Given the description of an element on the screen output the (x, y) to click on. 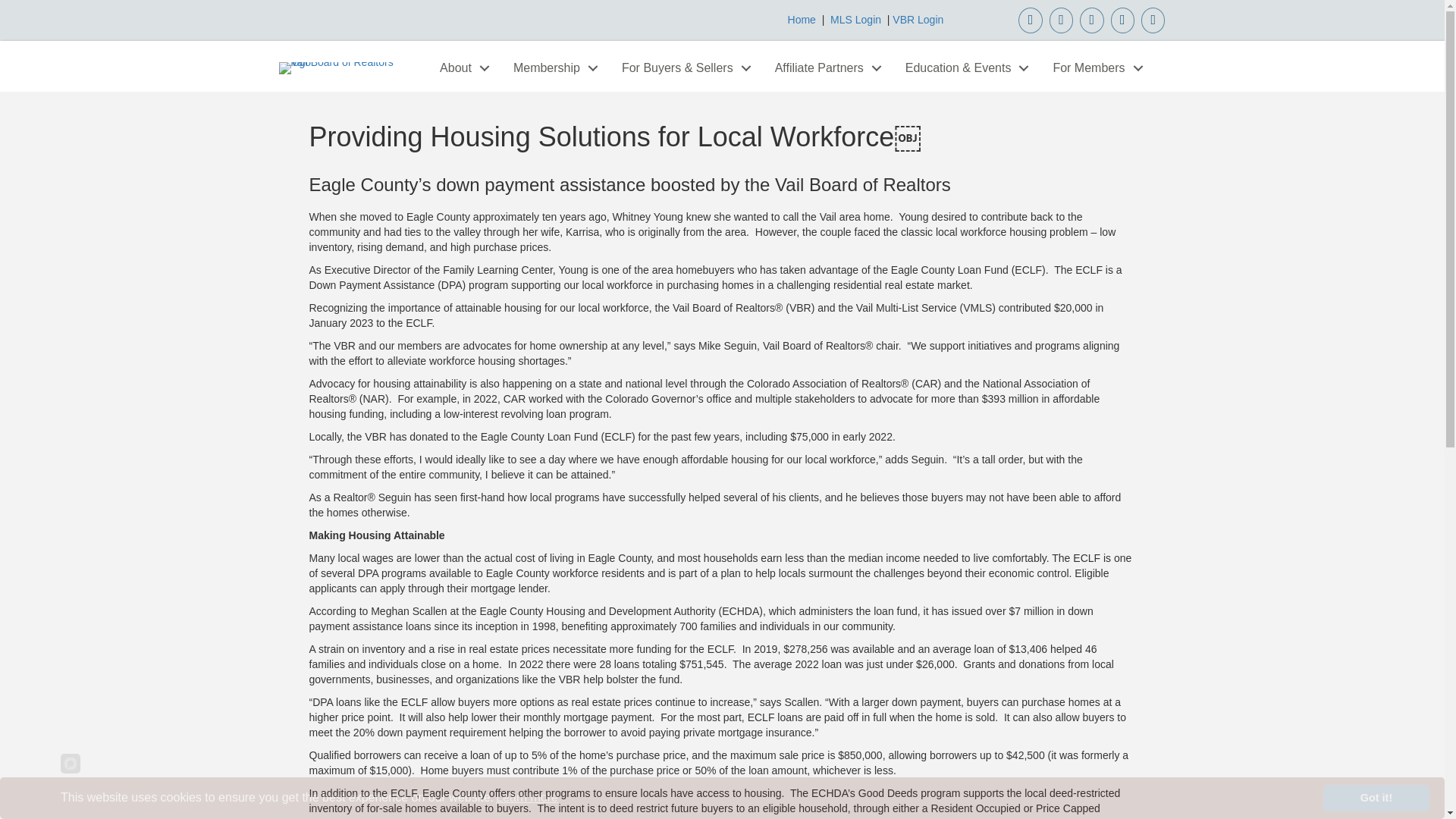
Home (801, 19)
Membership (551, 67)
About (461, 67)
MLS Login (854, 19)
VBR Login (917, 19)
